Given the description of an element on the screen output the (x, y) to click on. 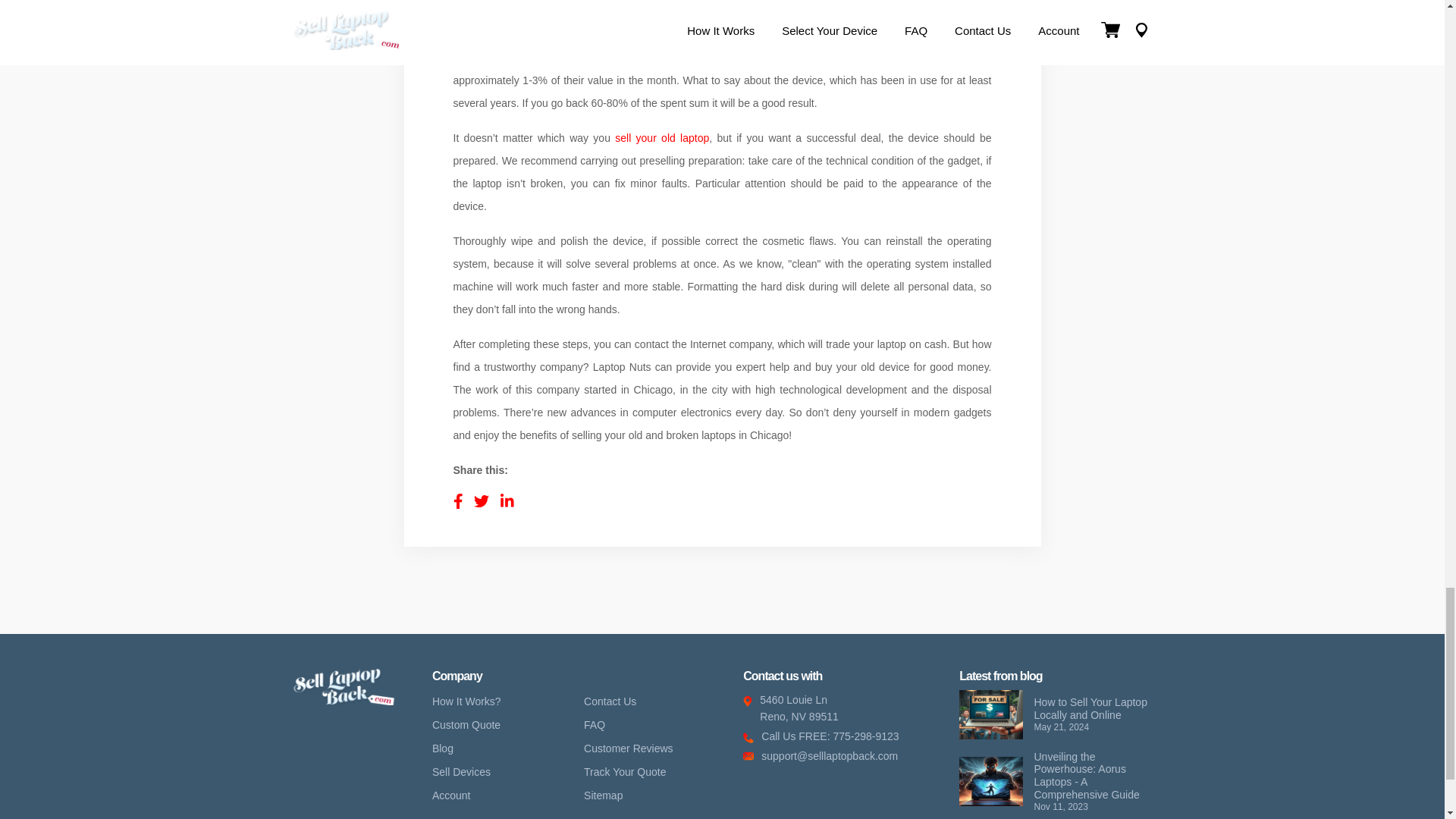
Track Your Quote (627, 771)
Custom Quote (470, 725)
Blog (446, 748)
Call Us FREE: 775-298-9123 (847, 736)
sellbroke.com (342, 701)
FAQ (597, 725)
sell your old laptop (661, 137)
Account (455, 795)
Contact Us (613, 701)
Sell Devices (464, 771)
Customer Reviews (631, 748)
Sitemap (606, 795)
How It Works? (847, 708)
